Given the description of an element on the screen output the (x, y) to click on. 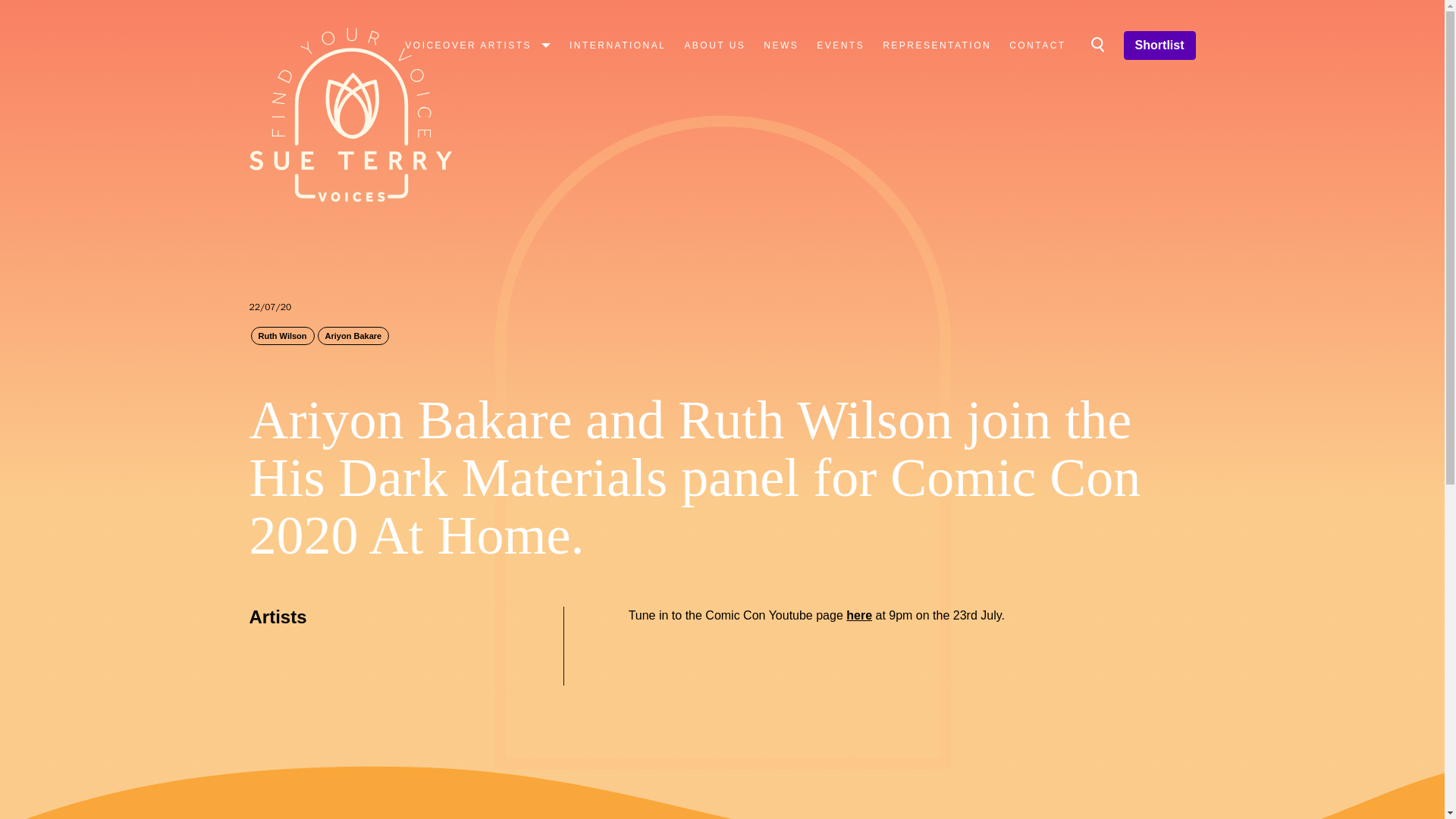
here (858, 615)
VOICEOVER ARTISTS (478, 45)
INTERNATIONAL (617, 45)
Ariyon Bakare (353, 334)
Ruth Wilson (282, 334)
EVENTS (840, 45)
ABOUT US (714, 45)
NEWS (780, 45)
REPRESENTATION (936, 45)
CONTACT (1037, 45)
Shortlist (1159, 45)
